Given the description of an element on the screen output the (x, y) to click on. 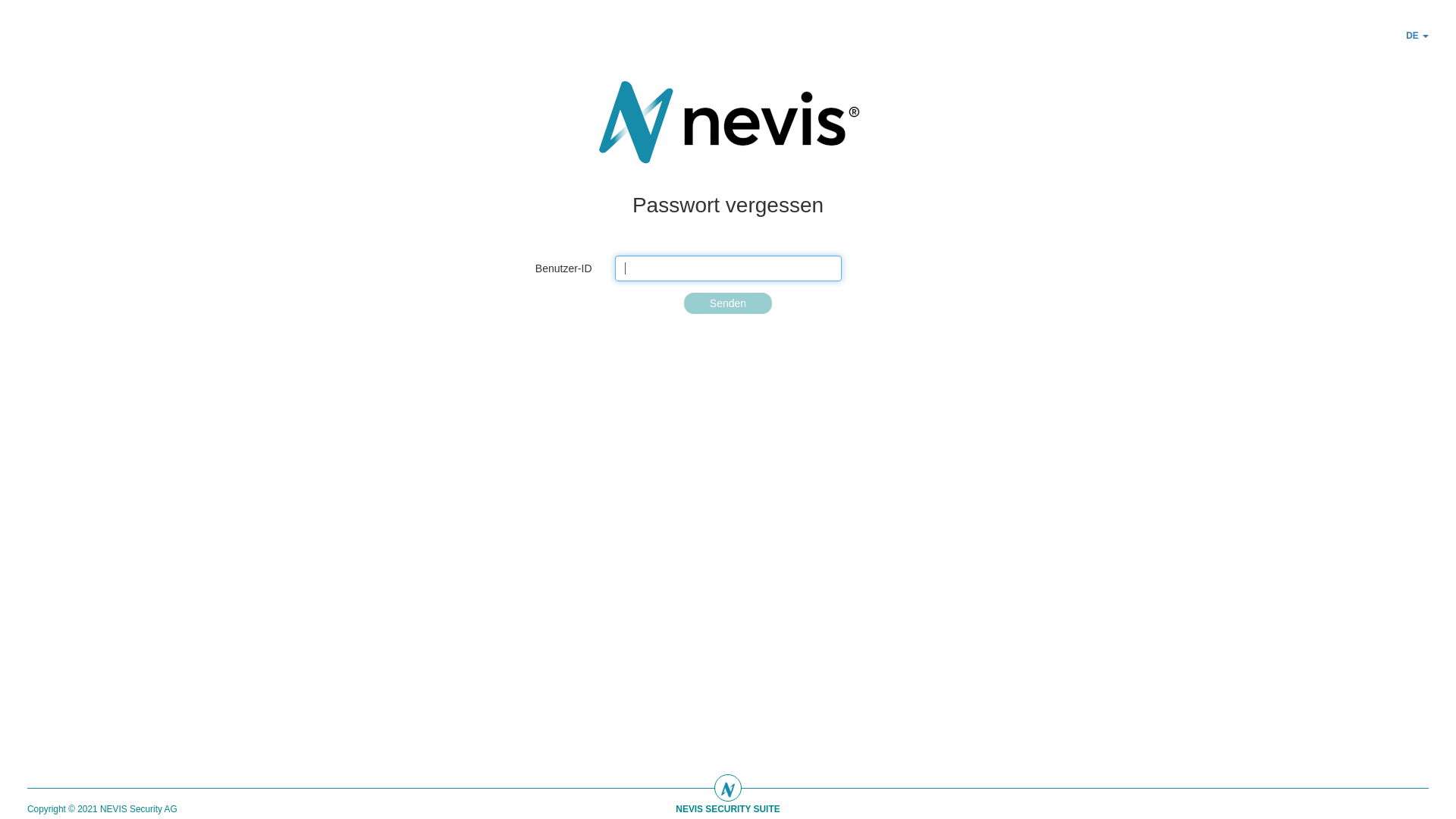
DE Element type: text (1416, 35)
Senden Element type: text (727, 302)
